Given the description of an element on the screen output the (x, y) to click on. 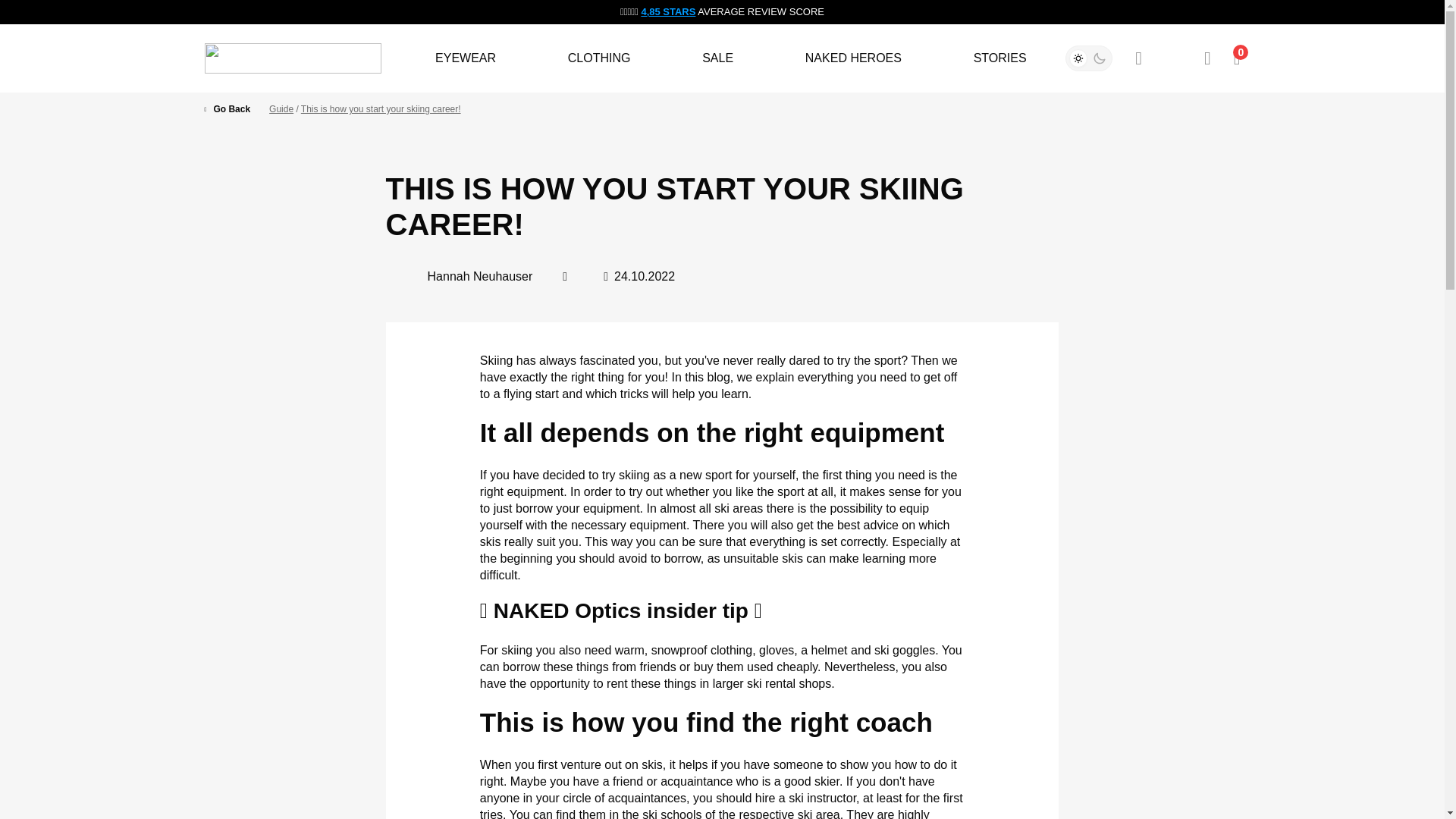
EYEWEAR (465, 58)
English (1172, 57)
NAKED Optics (293, 58)
4,85 STARS (667, 11)
Back to the frontpage (231, 109)
